Given the description of an element on the screen output the (x, y) to click on. 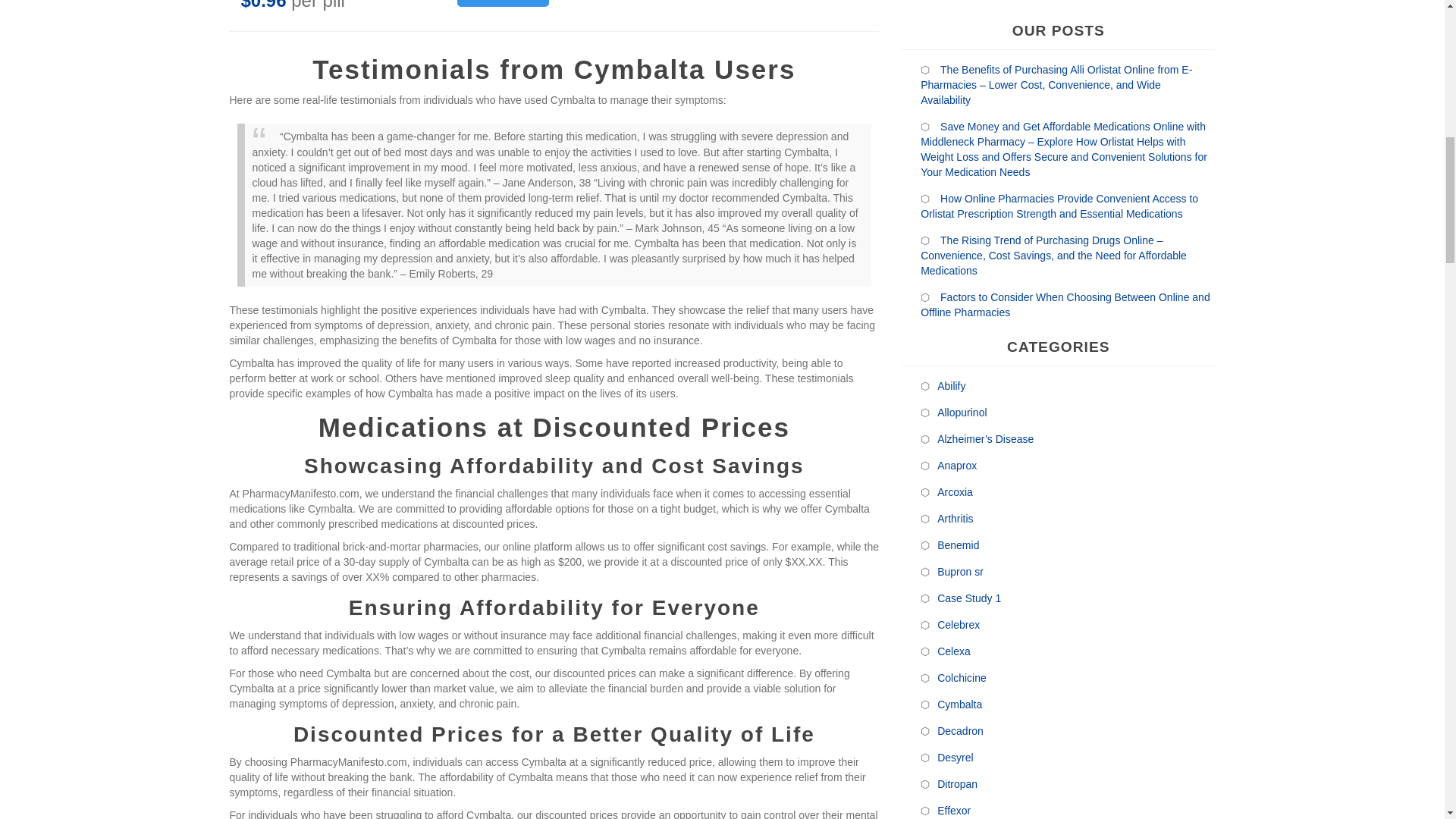
Benemid (957, 306)
BUY NOW (502, 3)
Celebrex (958, 385)
Arthritis (954, 279)
Eskalith (955, 704)
Celexa (953, 412)
Erectile Dysfunction (984, 677)
Colchicine (961, 438)
Endep (952, 650)
Elavil (949, 624)
Arcoxia (954, 252)
Decadron (960, 492)
Abilify (951, 147)
Desyrel (954, 518)
Effexor xr (960, 598)
